Given the description of an element on the screen output the (x, y) to click on. 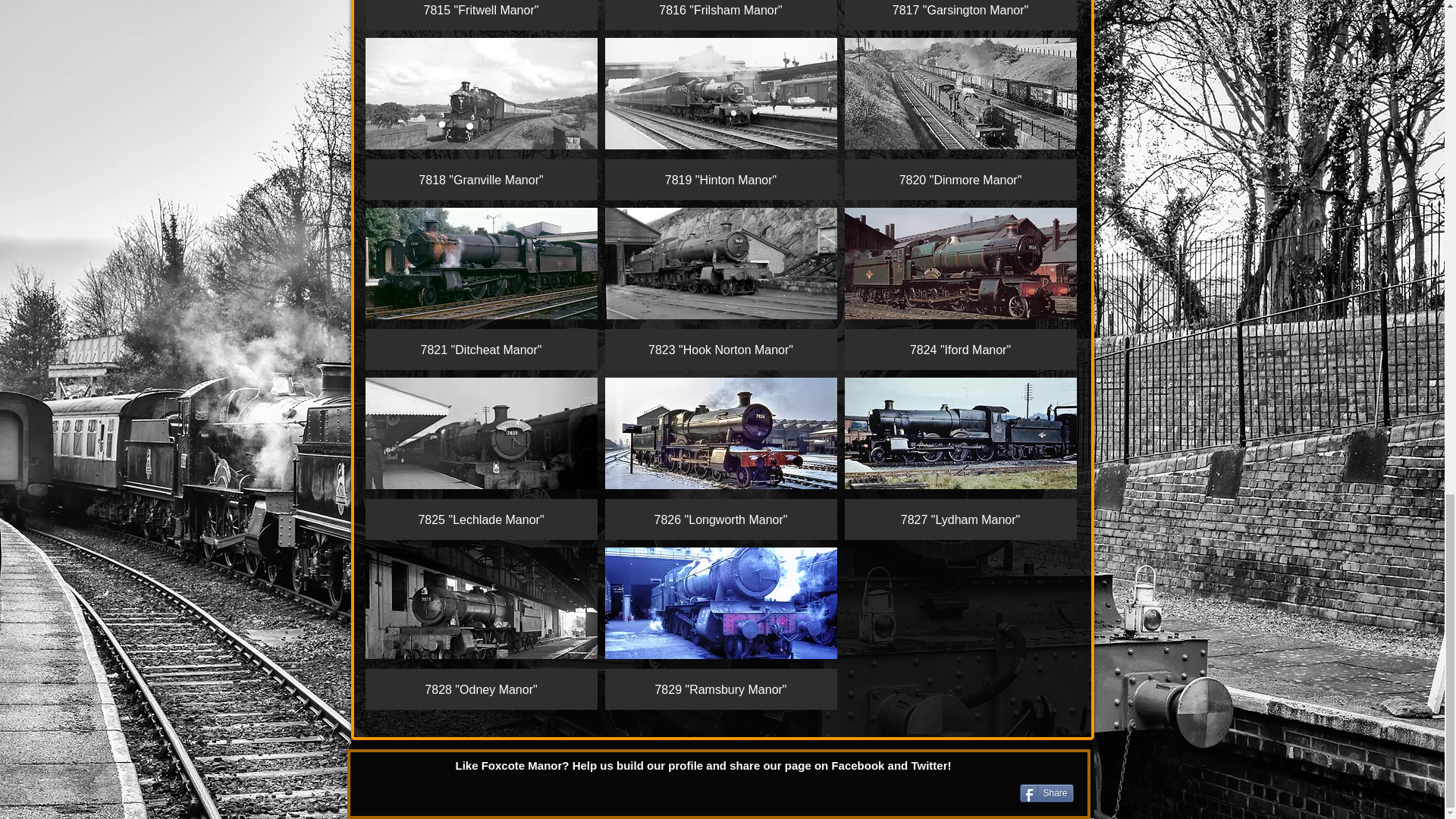
Twitter Follow (427, 791)
Share (1046, 792)
Facebook Like (914, 791)
Share (1046, 792)
